Given the description of an element on the screen output the (x, y) to click on. 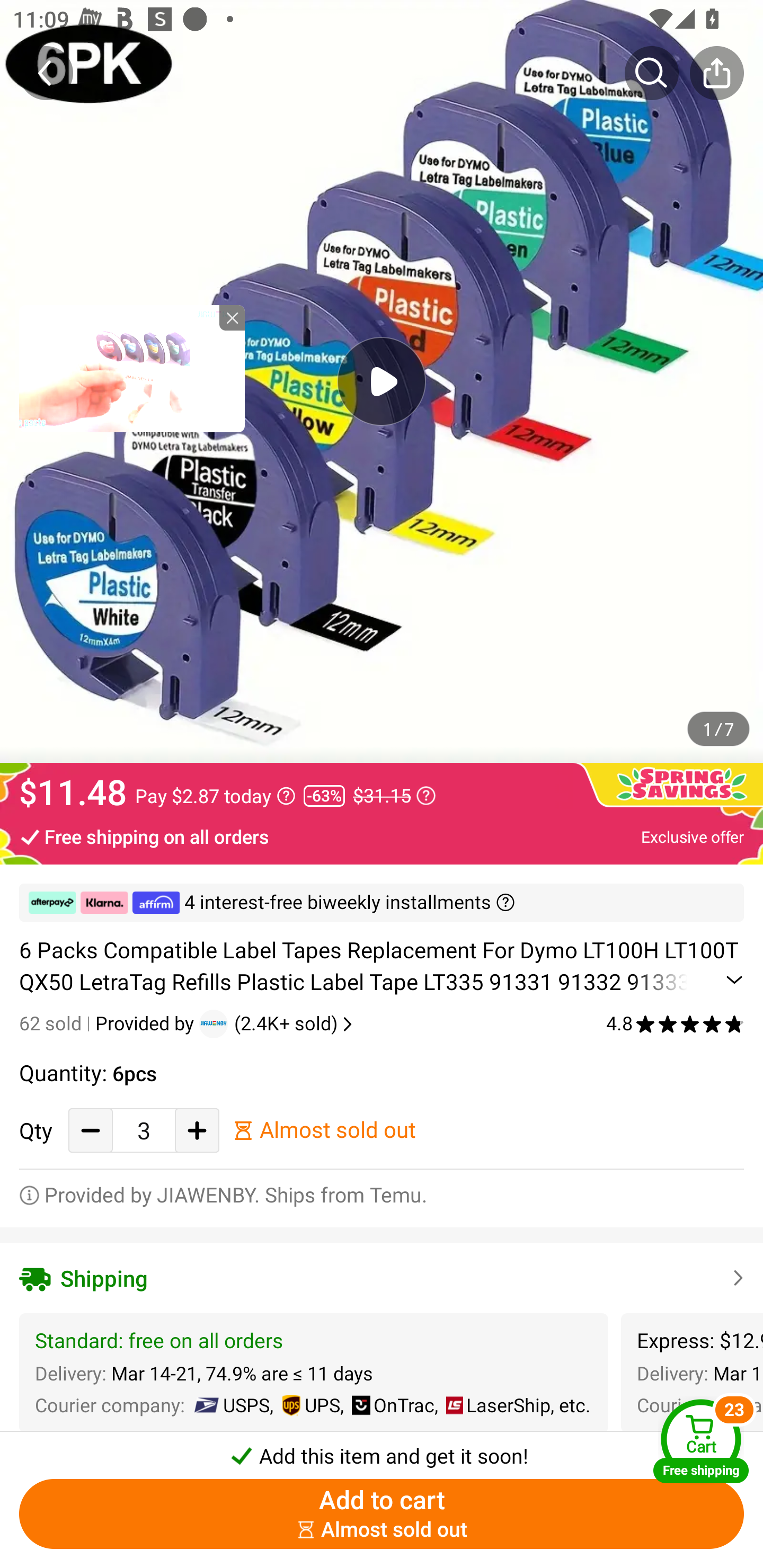
Back (46, 72)
Share (716, 72)
tronplayer_view (131, 368)
Pay $2.87 today   (215, 795)
Free shipping on all orders Exclusive offer (381, 836)
￼ ￼ ￼ 4 interest-free biweekly installments ￼ (381, 902)
62 sold Provided by  (109, 1023)
4.8 (674, 1023)
Decrease Quantity Button (90, 1130)
3 (143, 1130)
Add Quantity button (196, 1130)
Shipping (381, 1278)
Cart Free shipping Cart (701, 1440)
￼￼Add this item and get it soon!  (381, 1450)
Add to cart ￼￼Almost sold out (381, 1513)
